Given the description of an element on the screen output the (x, y) to click on. 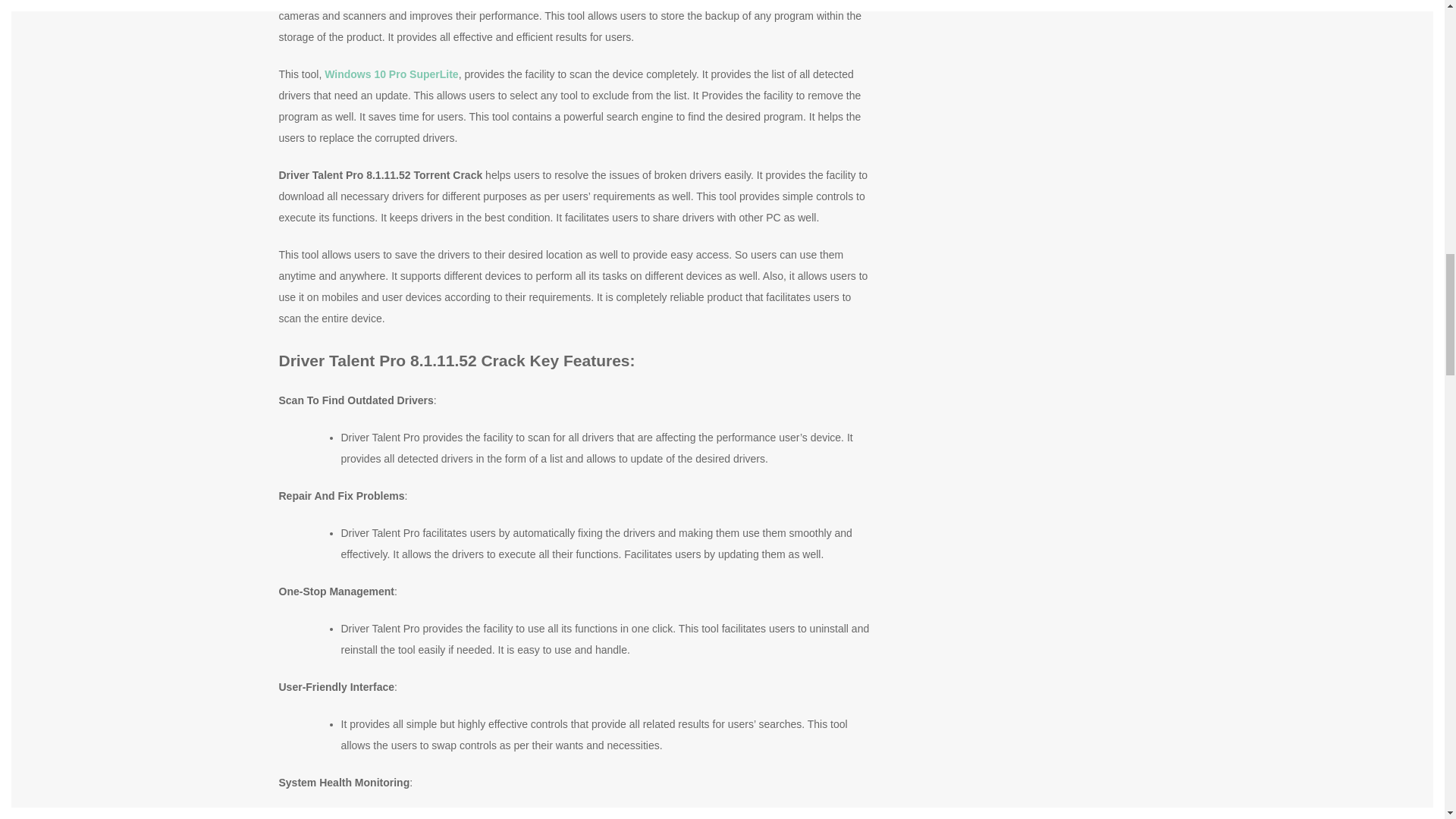
Windows 10 Pro SuperLite (391, 73)
